Given the description of an element on the screen output the (x, y) to click on. 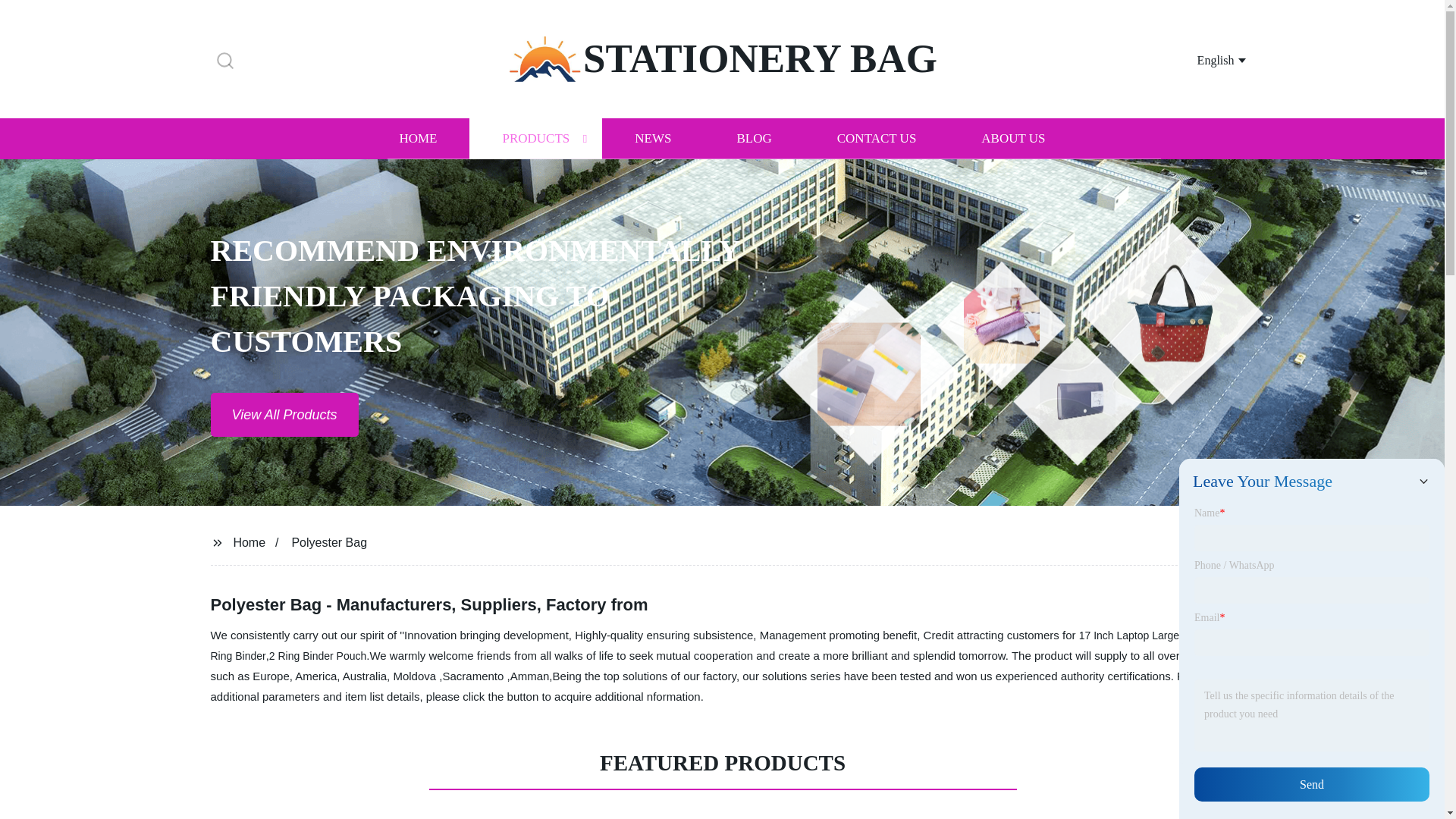
BLOG (753, 137)
CONTACT US (877, 137)
2 Ring Binder (710, 645)
2 Ring Binder Pouch (317, 654)
17 Inch Laptop Large Bag (1139, 635)
English (1203, 59)
PRODUCTS (535, 137)
Polyester Bag (328, 541)
ABOUT US (1013, 137)
Home (248, 541)
English (1203, 59)
Top (1404, 777)
2 Ring Binder (710, 645)
HOME (417, 137)
2 Ring Binder Pouch (317, 654)
